Given the description of an element on the screen output the (x, y) to click on. 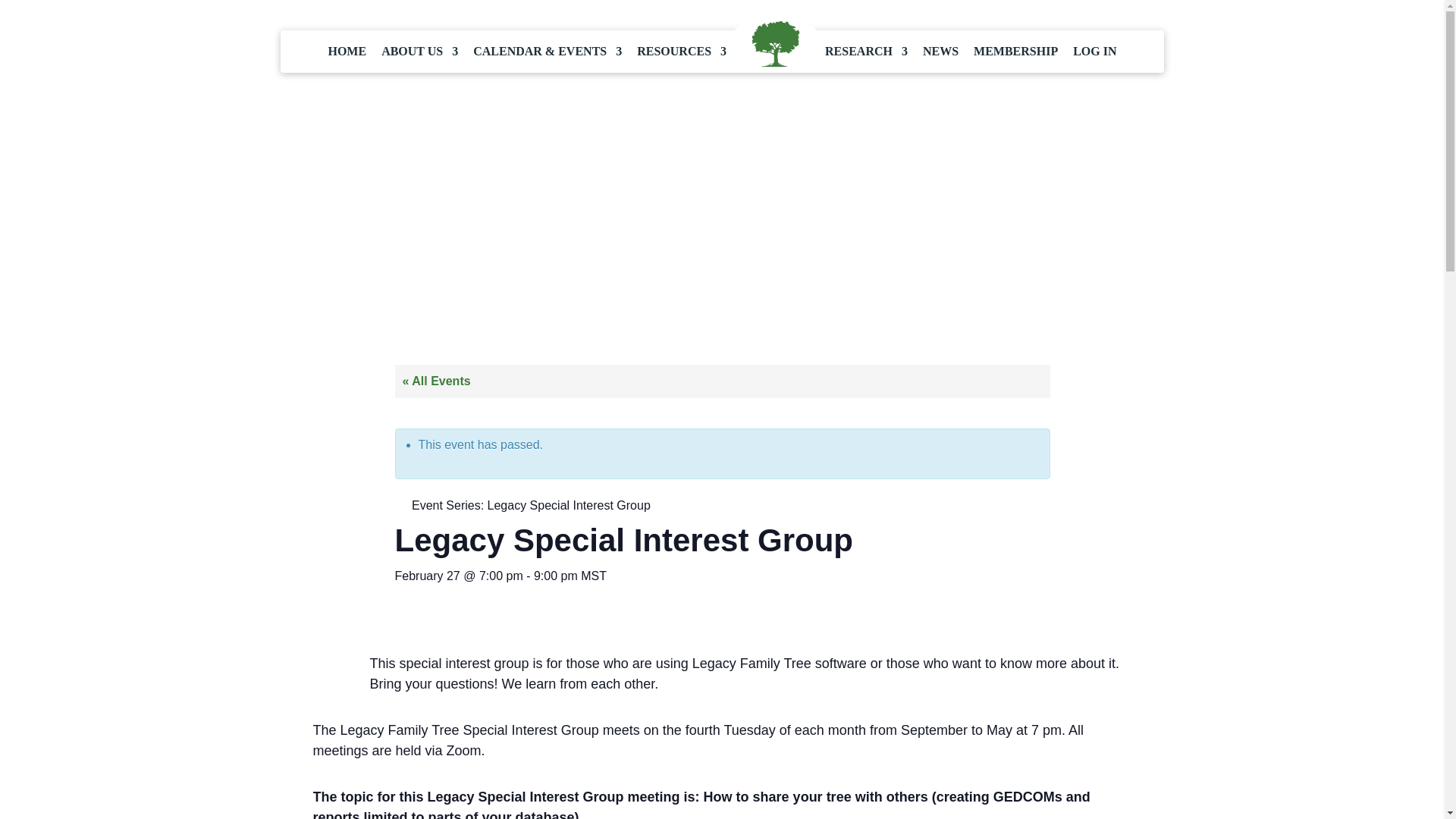
LOGO SPACER (775, 45)
HOME (346, 51)
Legacy Special Interest Group (568, 504)
LOG IN (1094, 51)
ABOUT US (419, 51)
RESEARCH (866, 51)
RESOURCES (681, 51)
Event Series (399, 504)
MEMBERSHIP (1016, 51)
